Given the description of an element on the screen output the (x, y) to click on. 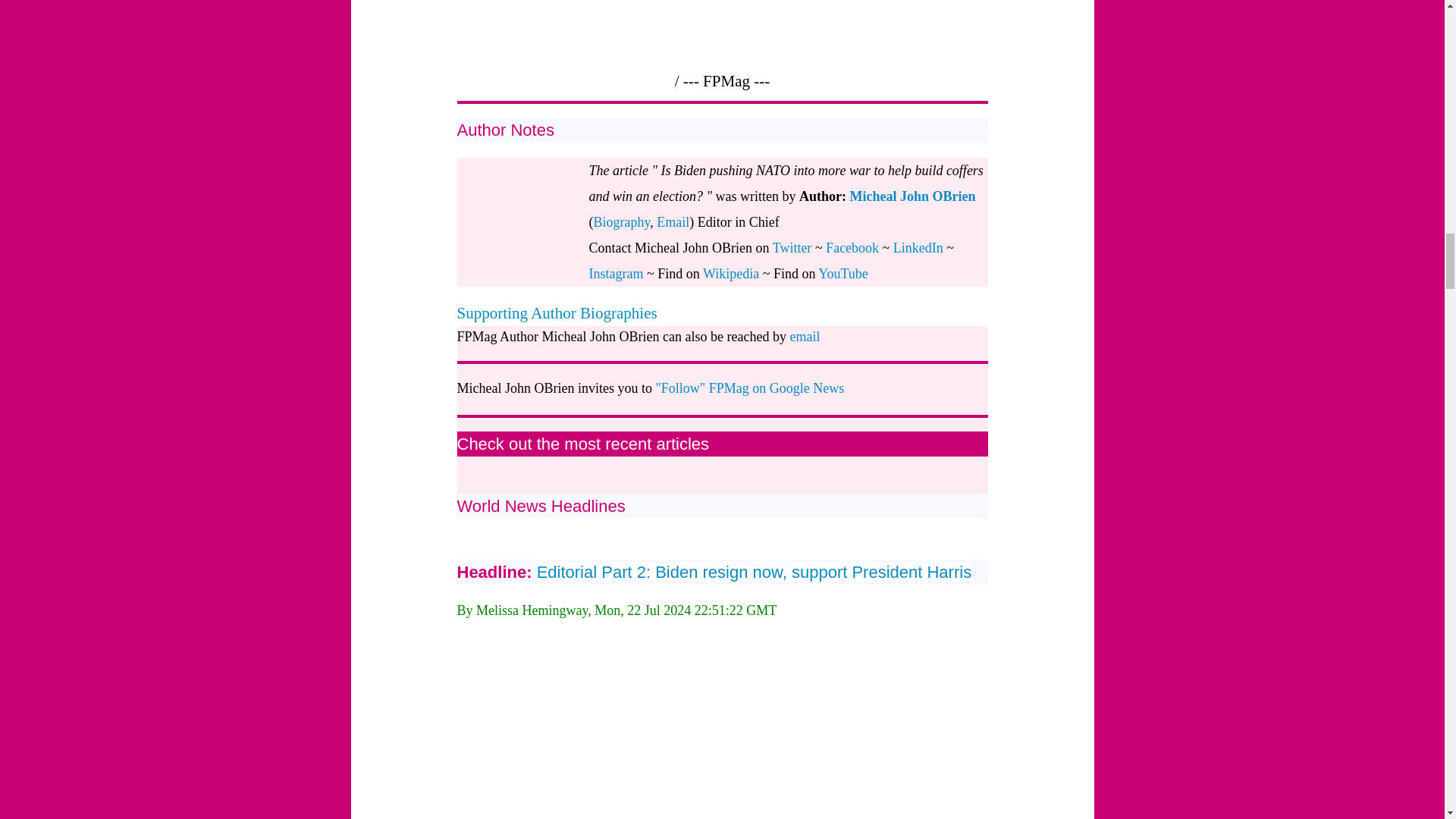
Twitter (792, 247)
Supporting Author Biographies (556, 312)
Email (672, 222)
Instagram (615, 273)
Wikipedia (730, 273)
Micheal John OBrien (912, 196)
LinkedIn (918, 247)
YouTube (842, 273)
Biography (620, 222)
Facebook (852, 247)
